Given the description of an element on the screen output the (x, y) to click on. 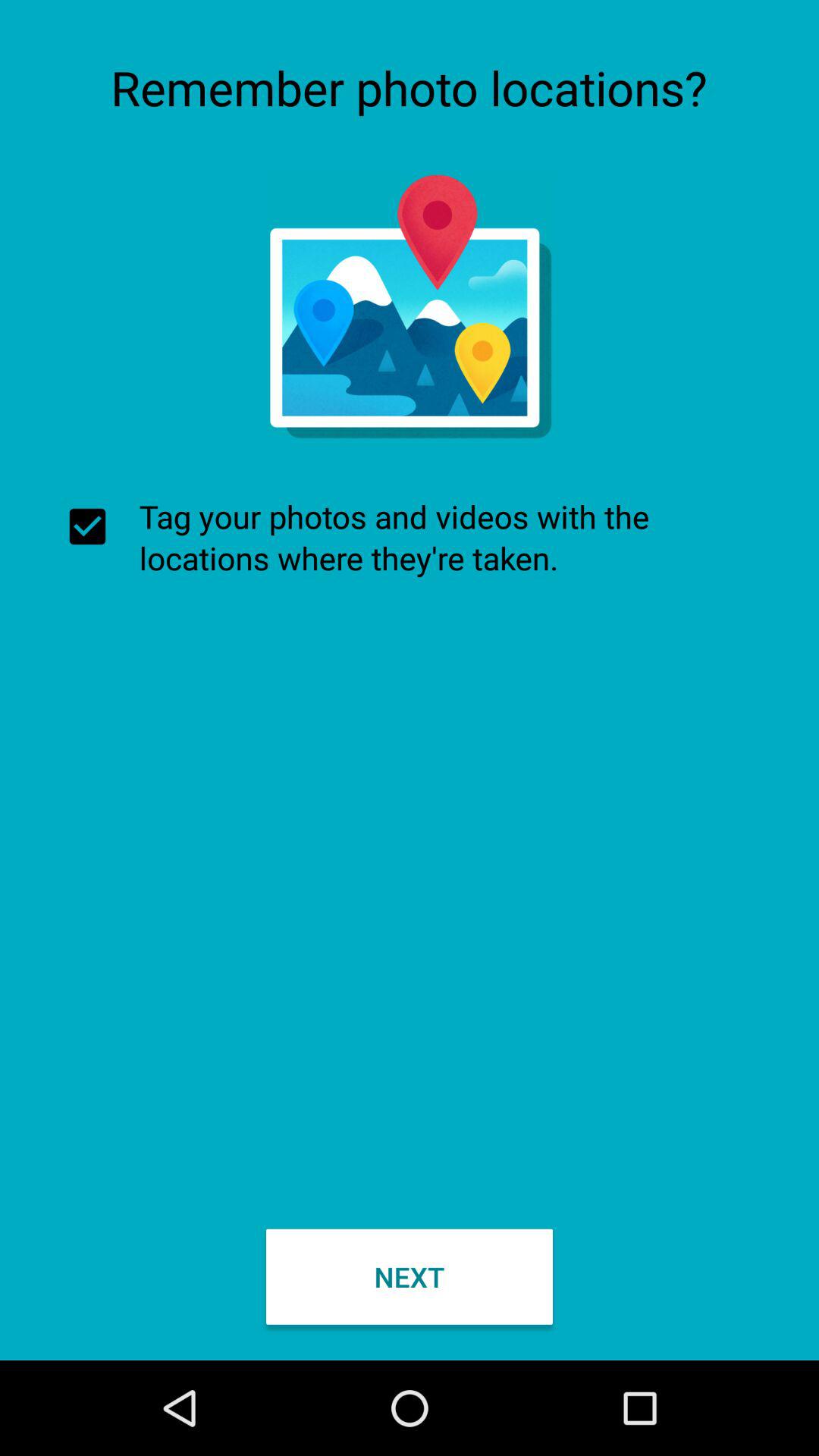
choose next at the bottom (409, 1276)
